Given the description of an element on the screen output the (x, y) to click on. 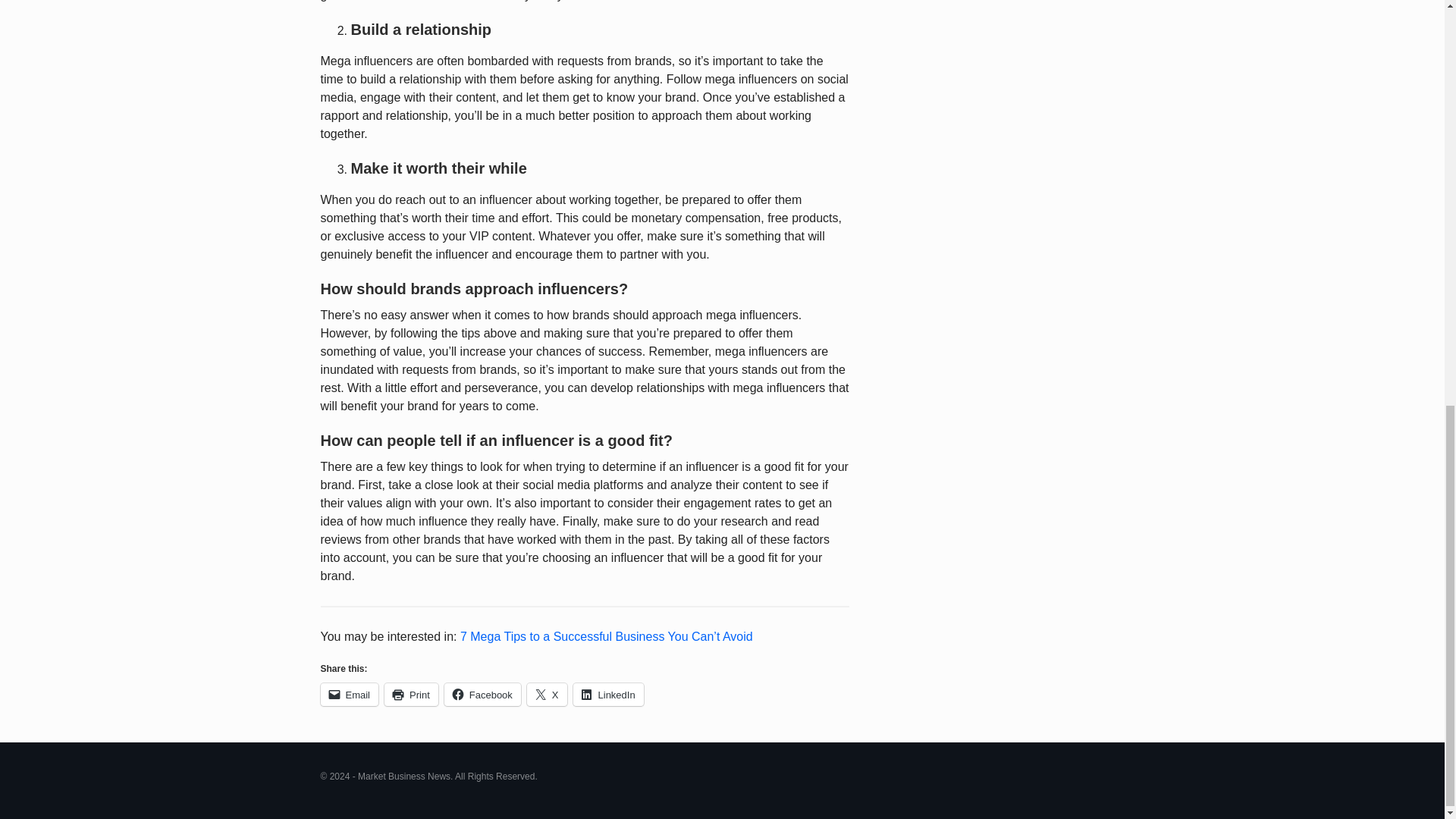
Facebook (482, 694)
Click to share on Facebook (482, 694)
Click to print (411, 694)
X (547, 694)
Email (349, 694)
Print (411, 694)
LinkedIn (608, 694)
Click to share on X (547, 694)
Click to share on LinkedIn (608, 694)
Click to email a link to a friend (349, 694)
